Given the description of an element on the screen output the (x, y) to click on. 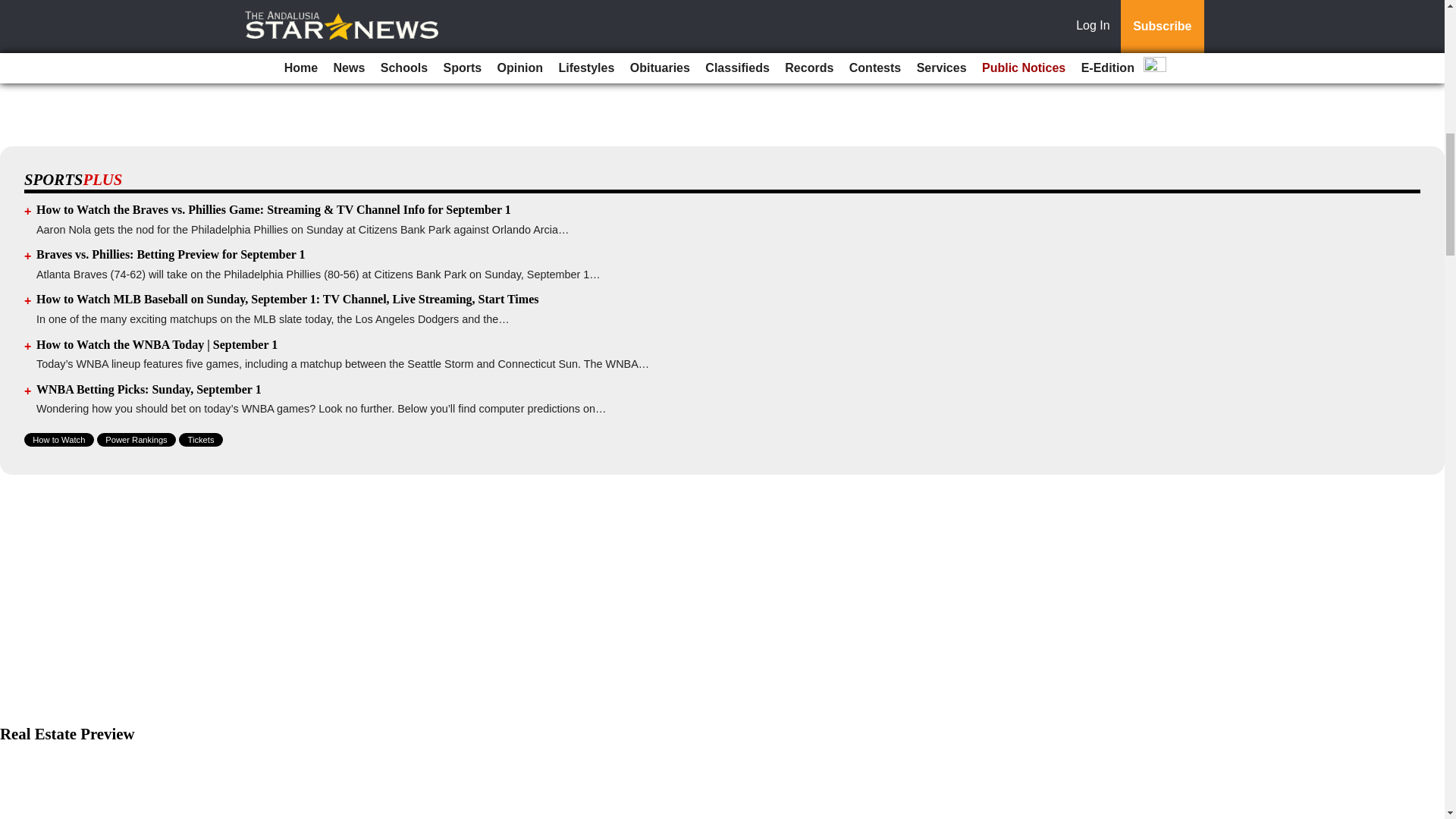
Power Rankings (136, 439)
Tickets (200, 439)
How to Watch (59, 439)
Braves vs. Phillies: Betting Preview for September 1 (170, 254)
WNBA Betting Picks: Sunday, September 1 (149, 389)
